Given the description of an element on the screen output the (x, y) to click on. 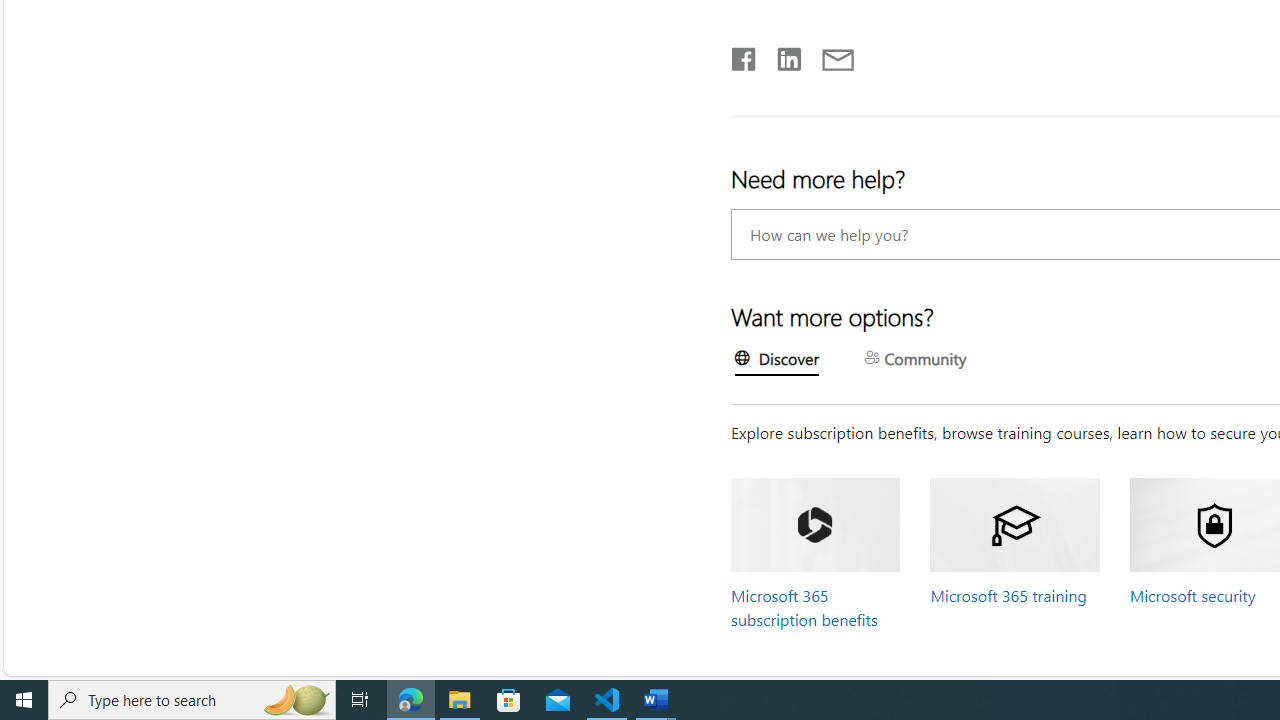
Email (836, 55)
LinkedIn (788, 55)
Share on LinkedIn (780, 55)
Share by email (827, 55)
Microsoft 365 training (1008, 595)
Microsoft security (1191, 595)
Discover (777, 361)
Microsoft 365 subscription benefits (804, 607)
Facebook (743, 55)
Community (915, 360)
Share on Facebook (744, 55)
